Given the description of an element on the screen output the (x, y) to click on. 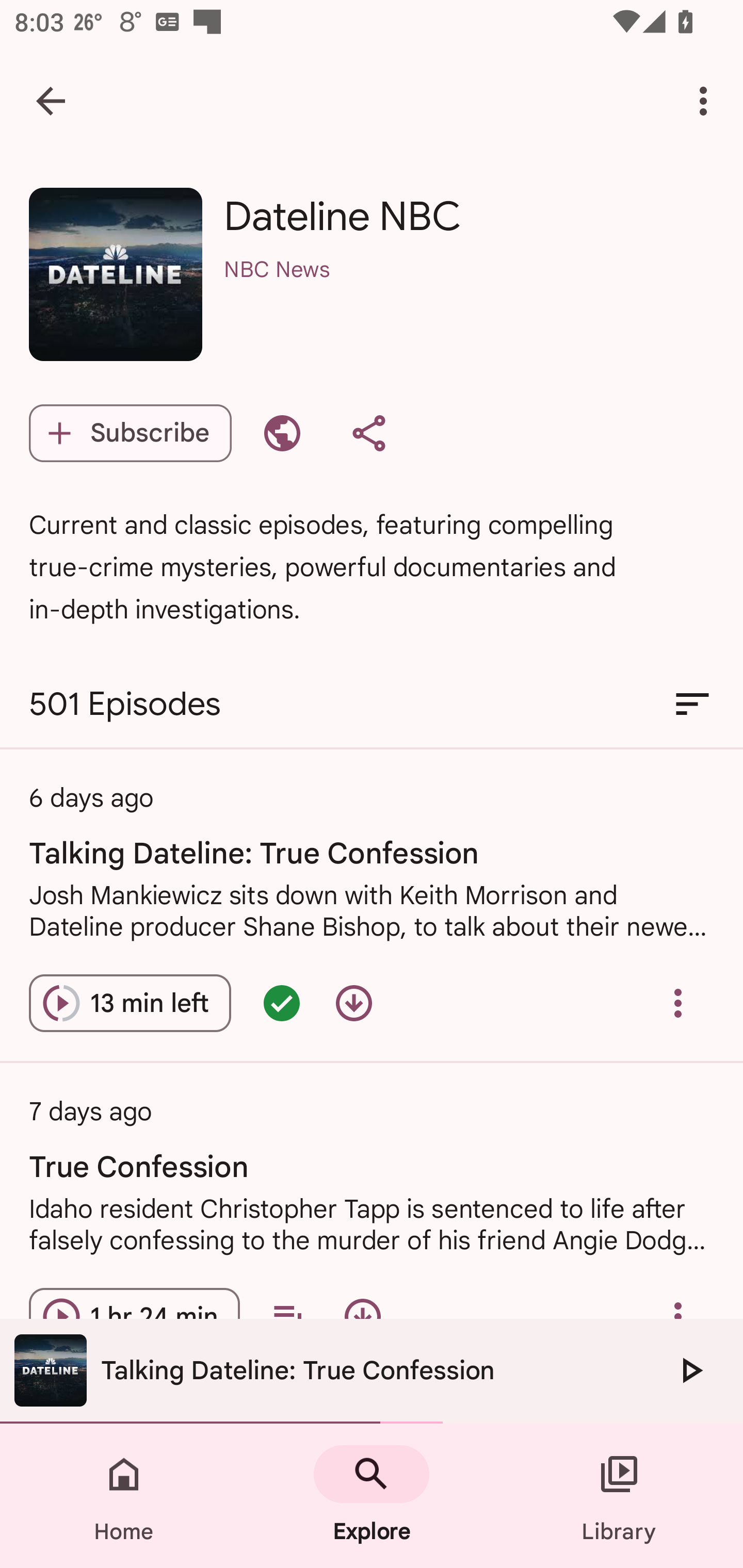
Navigate up (50, 101)
More options (706, 101)
NBC News (468, 295)
Subscribe (129, 433)
Visit website (282, 433)
Share (368, 433)
Sort (692, 703)
Episode queued - double tap for options (281, 1002)
Download episode (354, 1002)
Overflow menu (677, 1002)
Play (690, 1370)
Home (123, 1495)
Library (619, 1495)
